Given the description of an element on the screen output the (x, y) to click on. 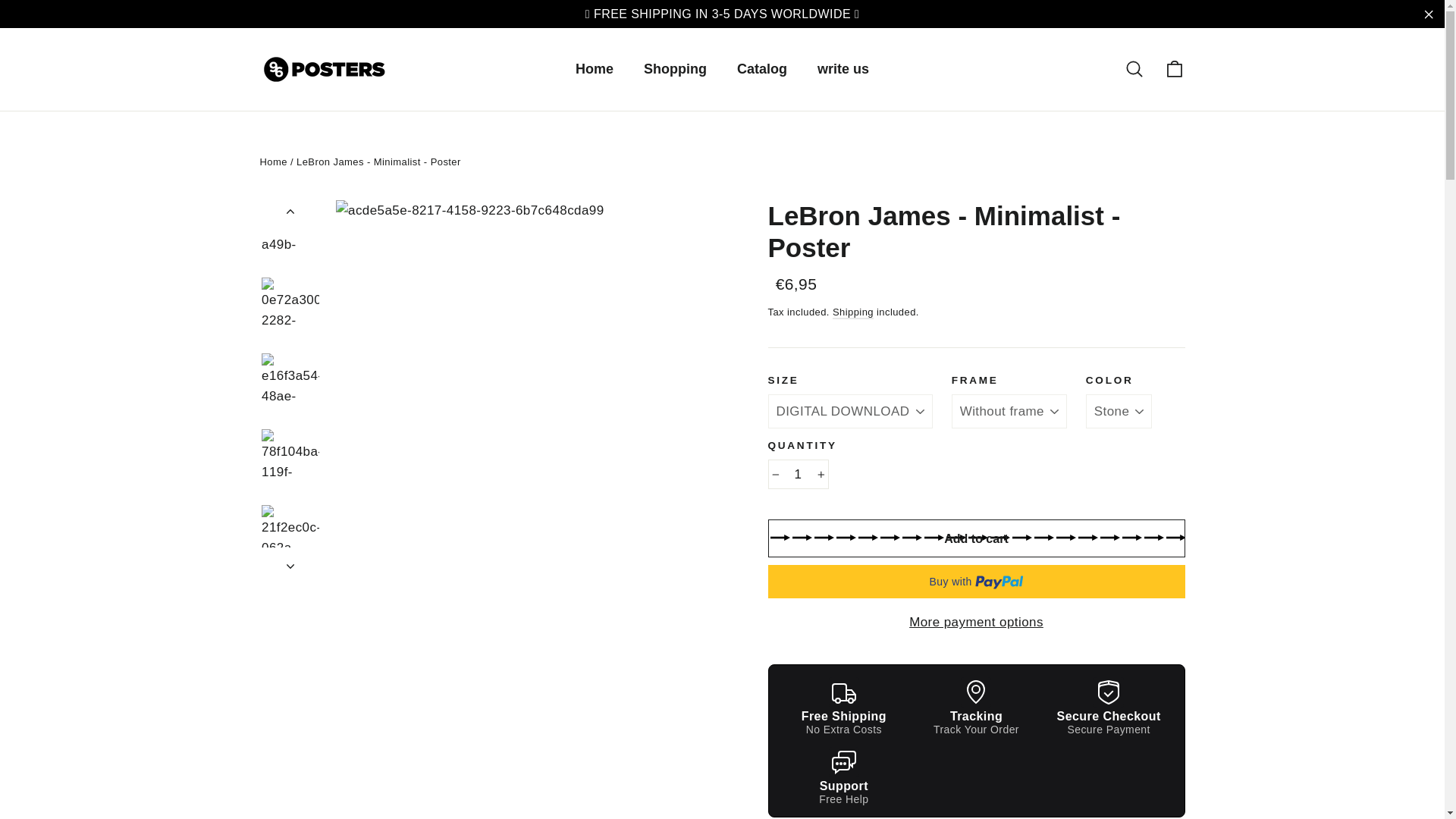
Home (272, 161)
Shopping (675, 69)
write us (842, 69)
1 (797, 473)
Search (1134, 68)
Cart (1173, 68)
Home (594, 69)
Catalog (762, 69)
Back to the frontpage (272, 161)
